Given the description of an element on the screen output the (x, y) to click on. 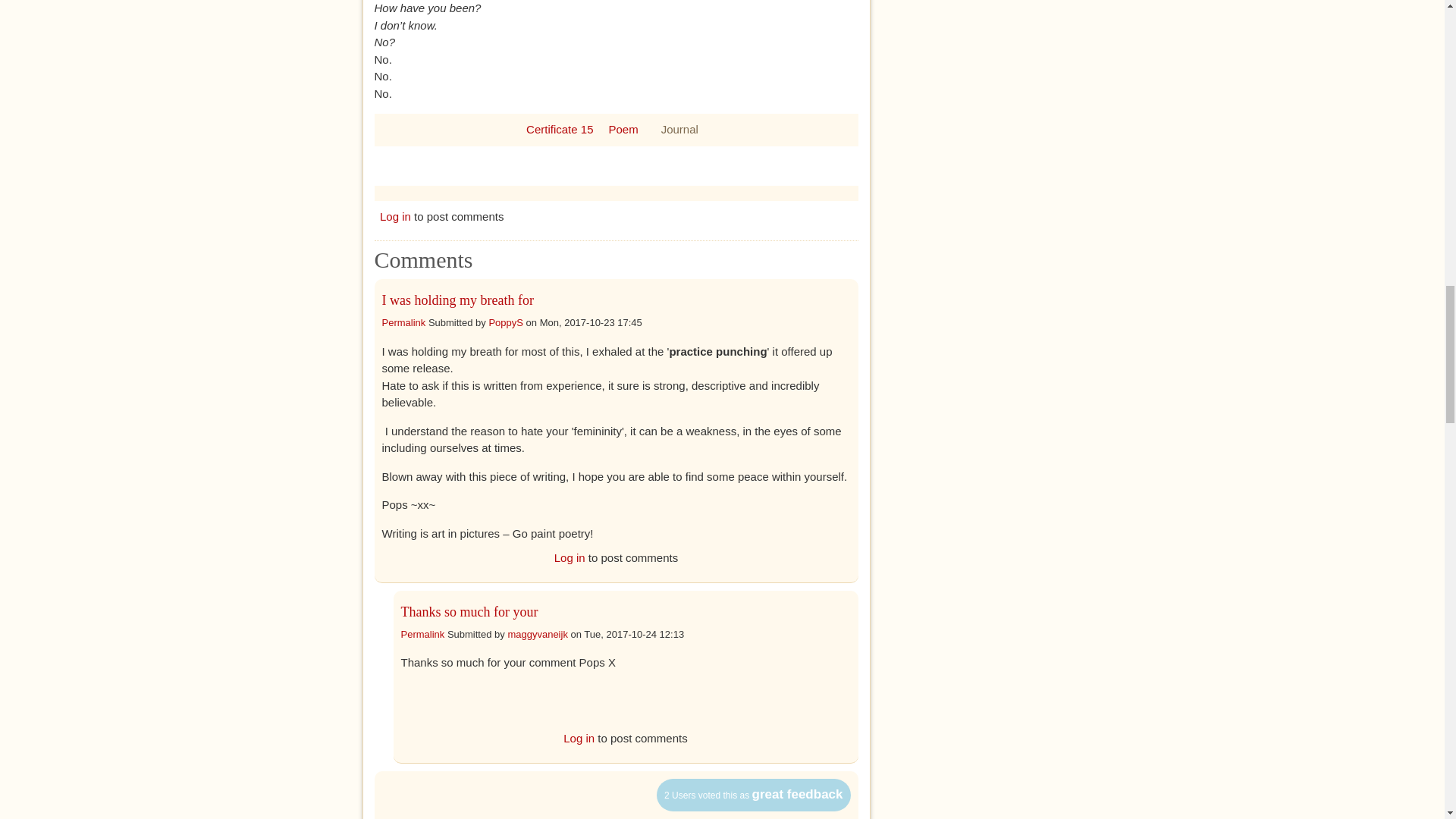
Facebook (597, 165)
Log in (578, 738)
I was holding my breath for (457, 299)
View user profile. (536, 633)
Log in (395, 215)
Twitter (627, 165)
Facebook (597, 165)
PoppyS (504, 322)
Certificate 15 (558, 128)
maggyvaneijk (536, 633)
